Given the description of an element on the screen output the (x, y) to click on. 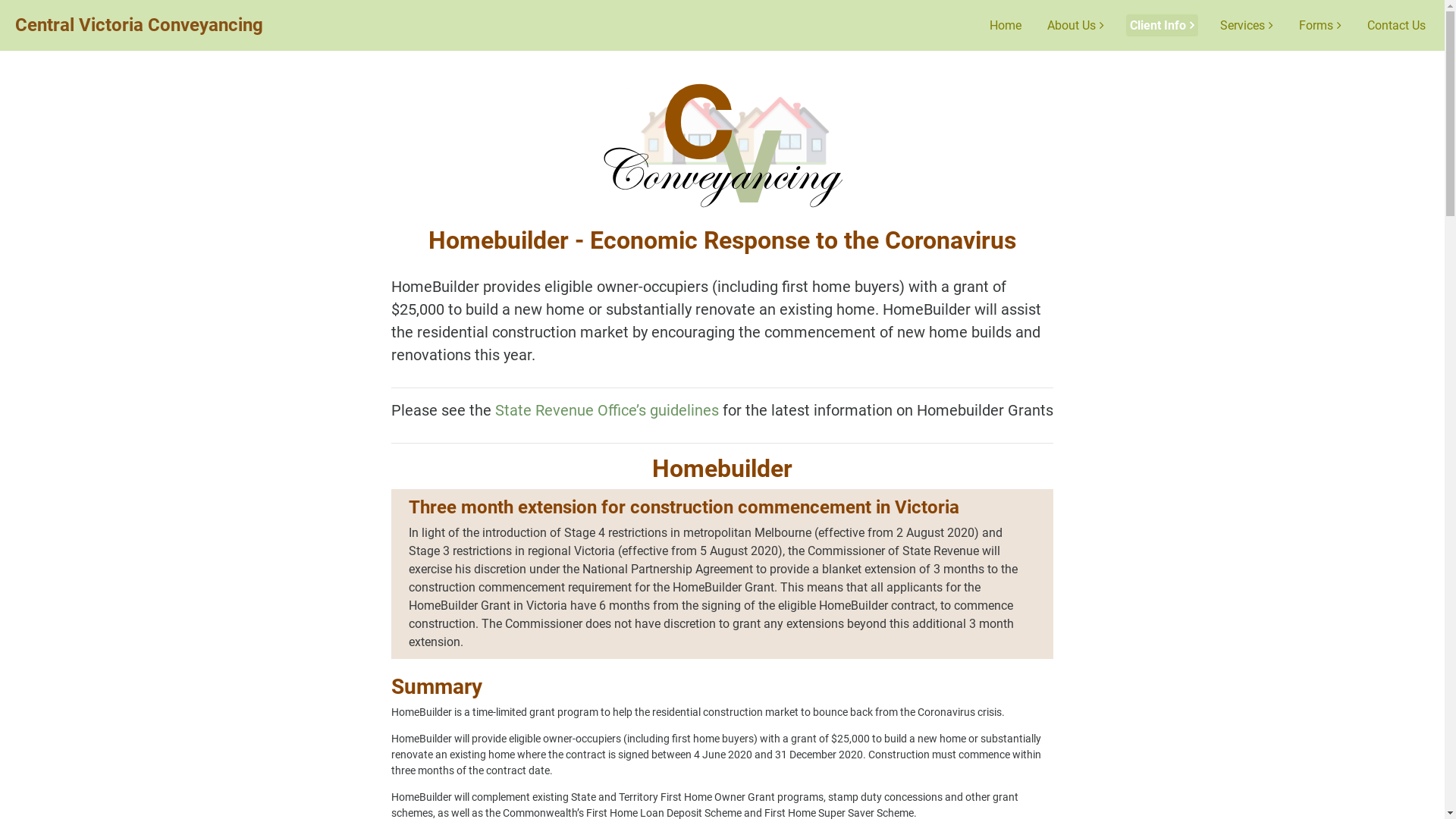
Central Victoria Conveyancing Element type: text (139, 24)
Services Element type: text (1246, 25)
About Us Element type: text (1075, 25)
Client Info Element type: text (1162, 25)
Forms Element type: text (1320, 25)
Home Element type: text (1005, 25)
Contact Us Element type: text (1396, 25)
